Given the description of an element on the screen output the (x, y) to click on. 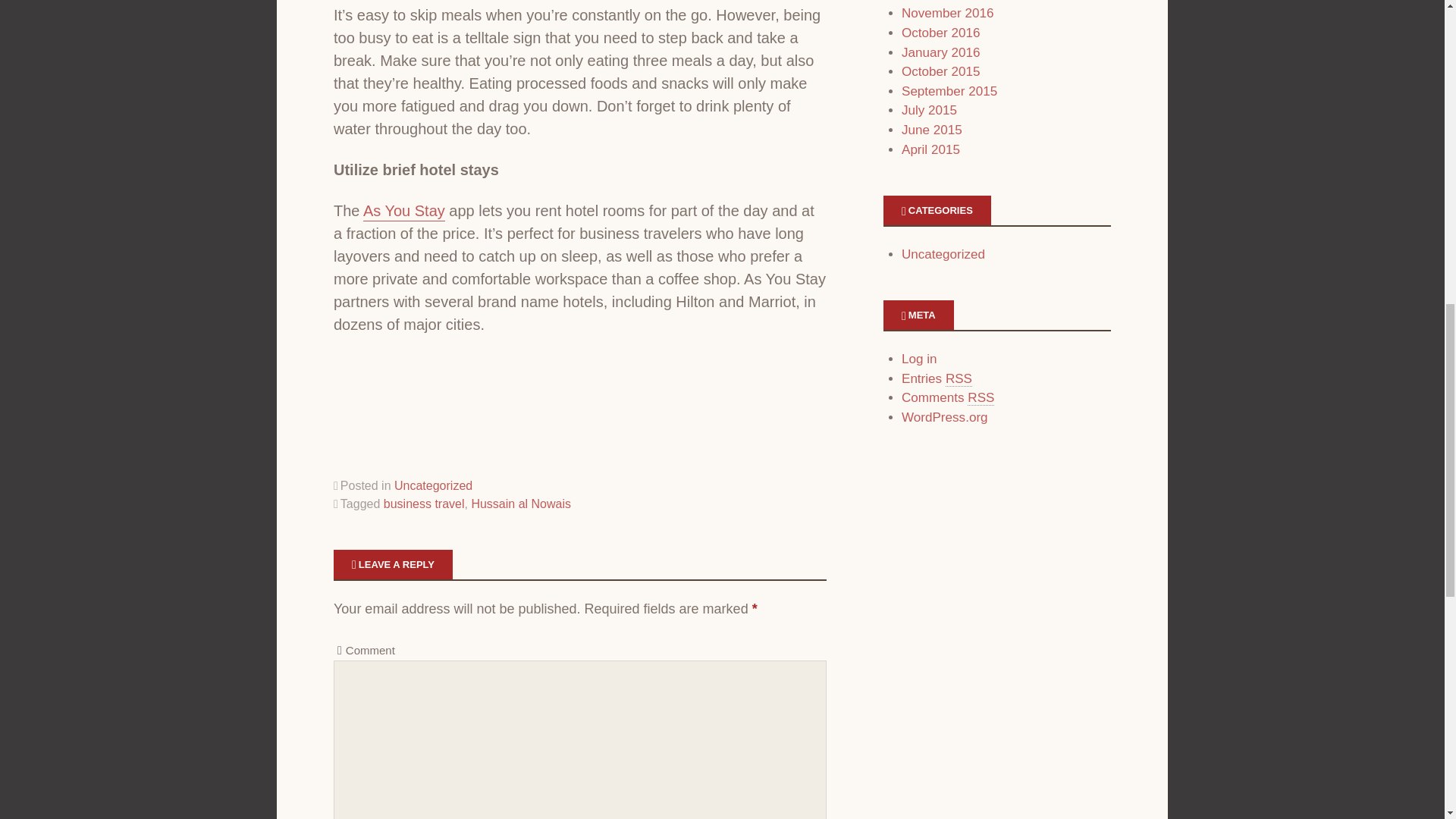
July 2015 (928, 110)
October 2015 (940, 71)
Really Simple Syndication (981, 397)
As You Stay (403, 211)
September 2015 (949, 91)
October 2016 (940, 32)
Uncategorized (432, 485)
June 2015 (931, 129)
Really Simple Syndication (958, 378)
January 2016 (940, 52)
business travel (424, 503)
November 2016 (947, 12)
Hussain al Nowais (520, 503)
December 2016 (947, 0)
